Given the description of an element on the screen output the (x, y) to click on. 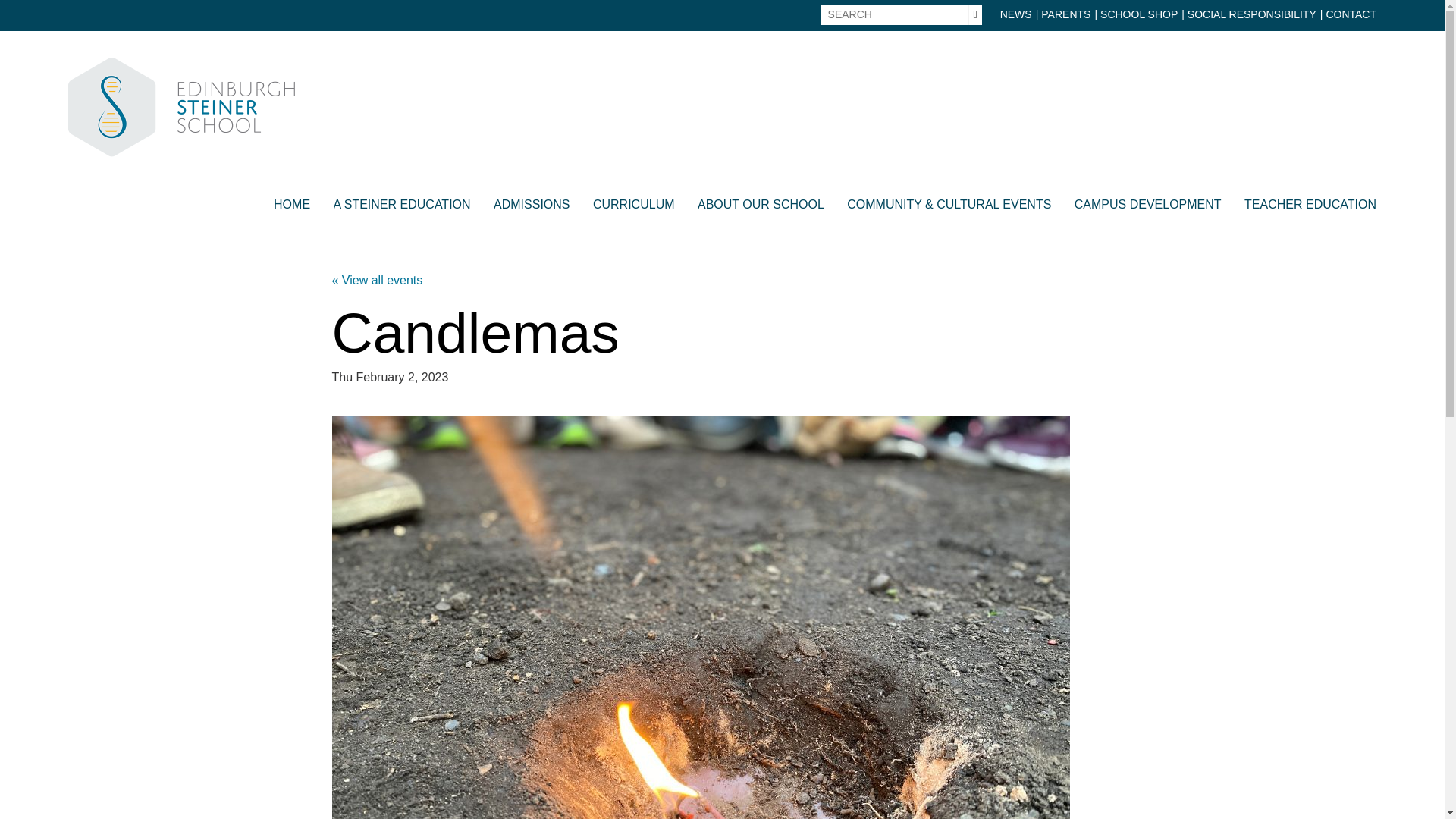
ABOUT OUR SCHOOL (760, 208)
PARENTS (1065, 15)
SOCIAL RESPONSIBILITY (1252, 15)
CONTACT (1349, 15)
SCHOOL SHOP (1138, 15)
ADMISSIONS (531, 208)
CURRICULUM (633, 208)
NEWS (1016, 15)
A STEINER EDUCATION (401, 208)
HOME (291, 208)
